Given the description of an element on the screen output the (x, y) to click on. 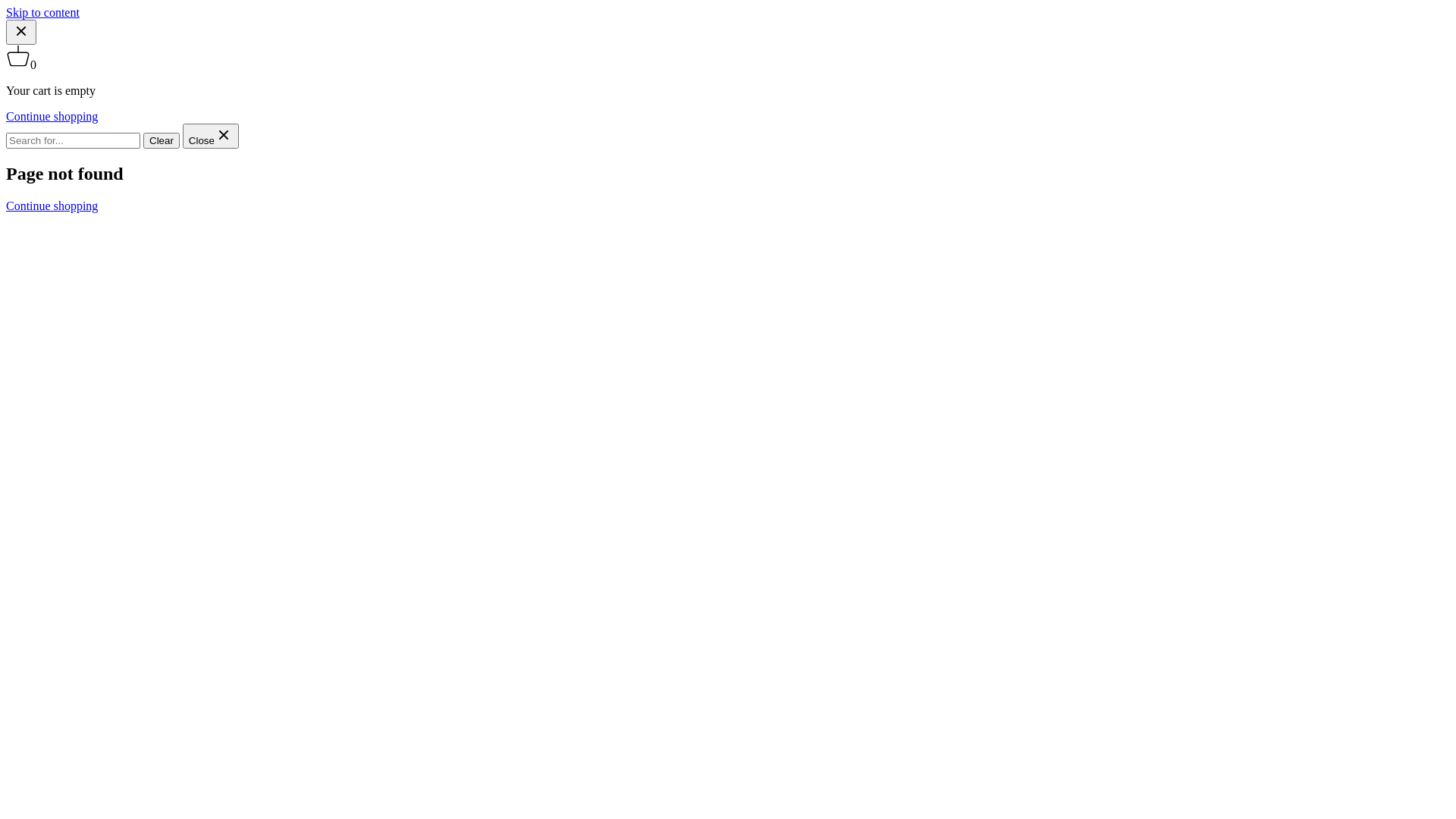
Skip to content Element type: text (42, 12)
Clear Element type: text (161, 140)
Continue shopping Element type: text (51, 115)
Close Element type: text (210, 135)
Continue shopping Element type: text (51, 205)
